Given the description of an element on the screen output the (x, y) to click on. 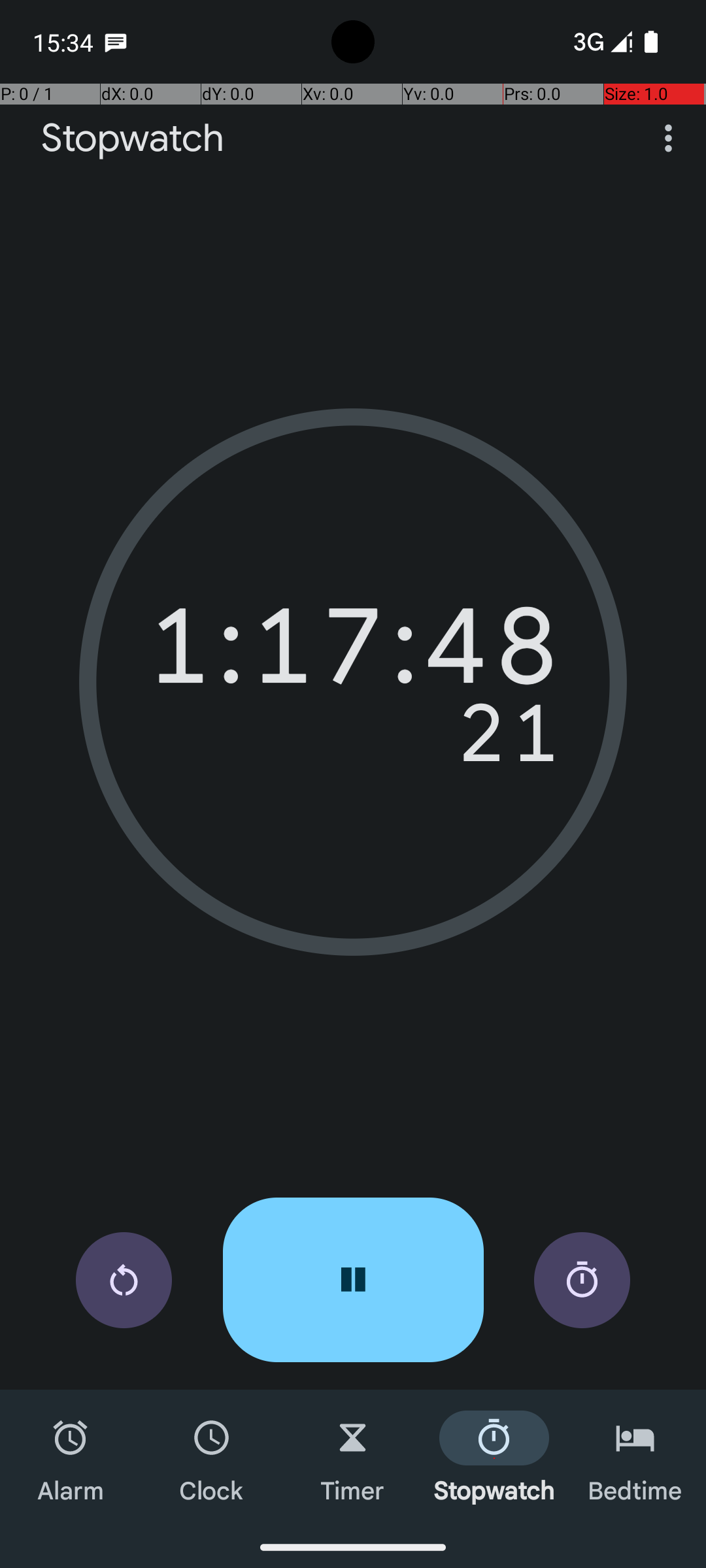
1:17:44 Element type: android.widget.TextView (352, 652)
